Given the description of an element on the screen output the (x, y) to click on. 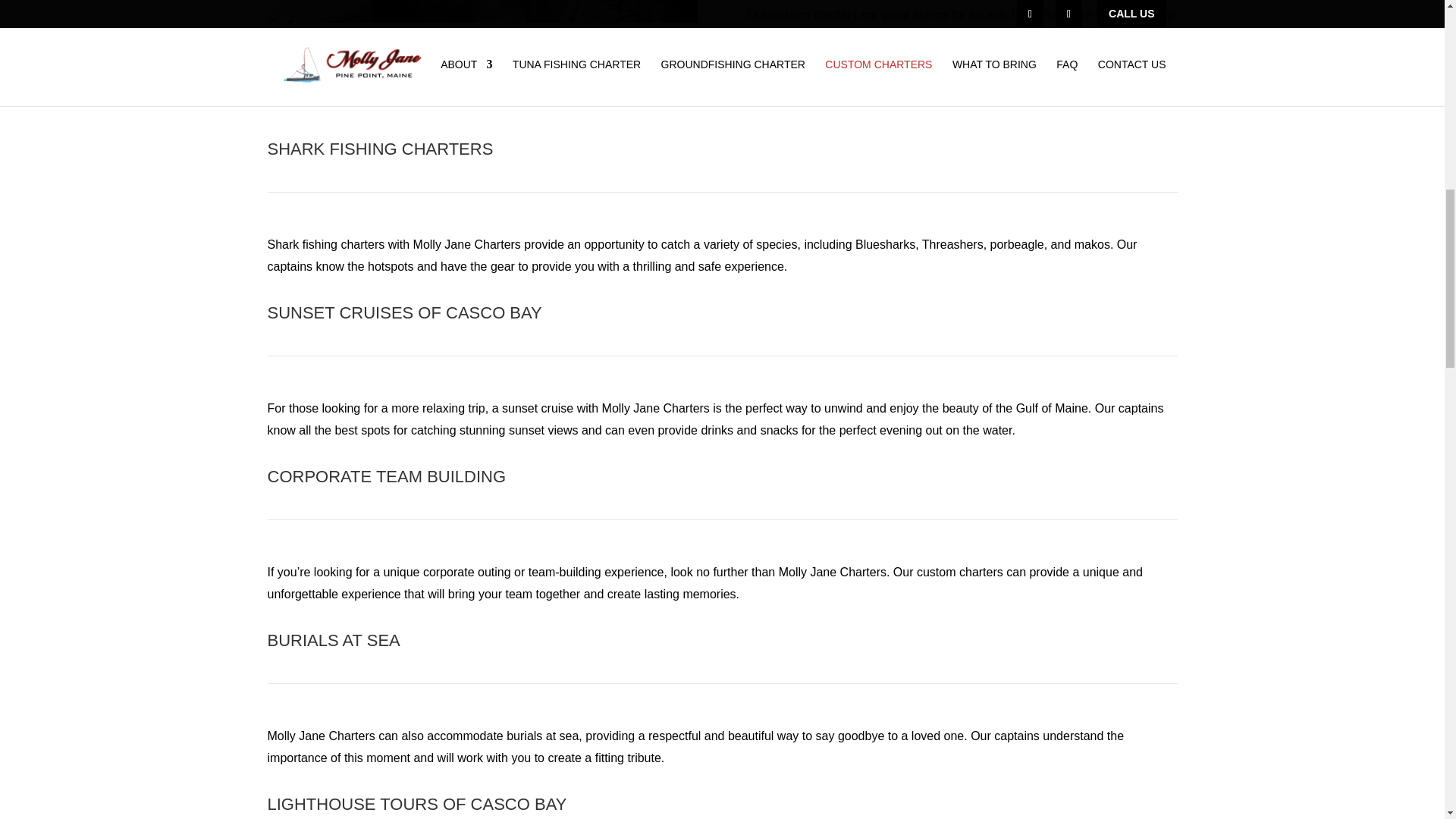
custom-charters-1 (481, 47)
